Given the description of an element on the screen output the (x, y) to click on. 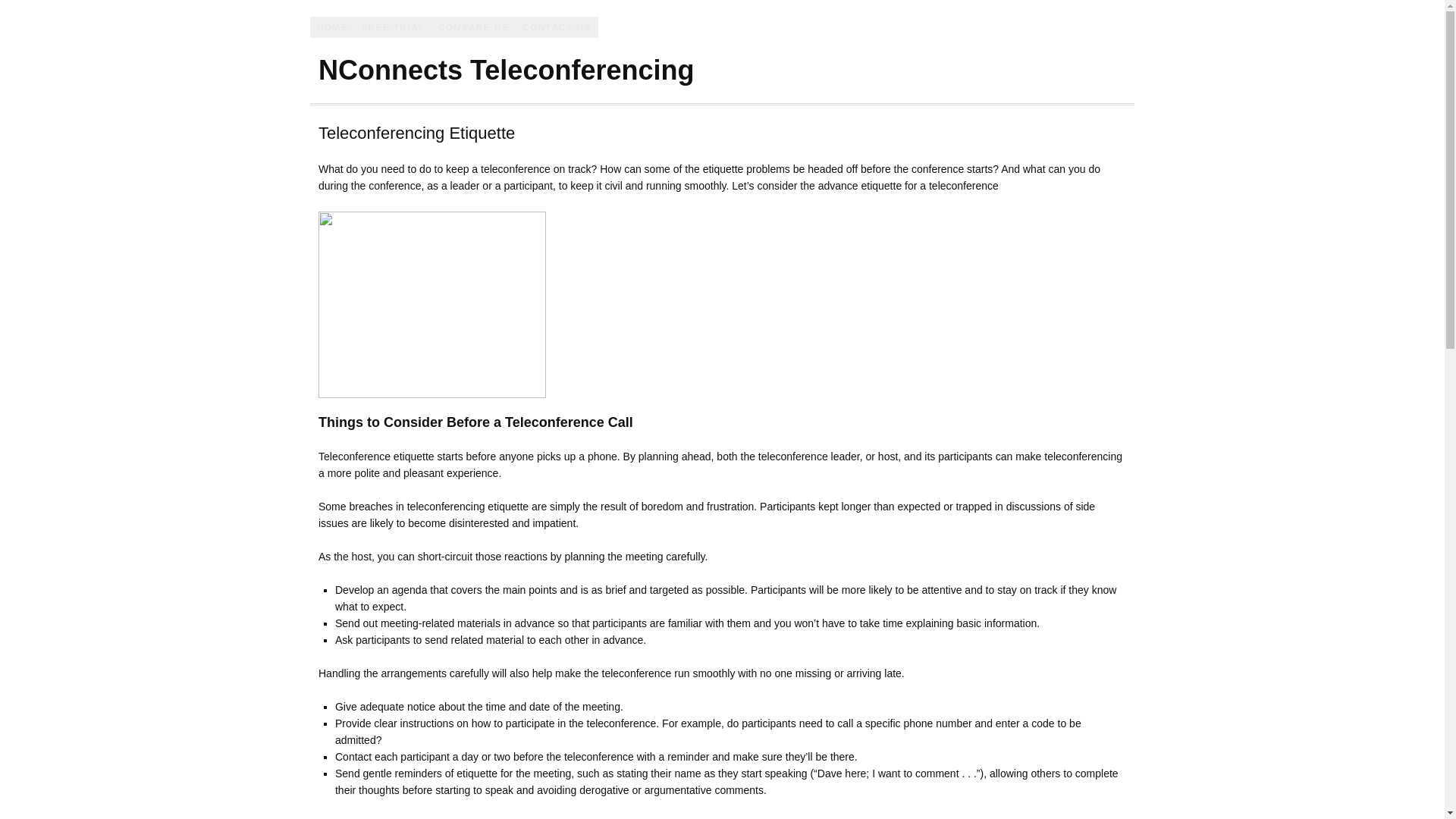
HOME Element type: text (332, 26)
NConnects Teleconferencing Element type: text (505, 69)
teleconferencing-etiquette-1 Element type: hover (432, 304)
COMPARE US Element type: text (473, 26)
FREE TRIAL Element type: text (392, 26)
CONTACT US Element type: text (556, 26)
